Given the description of an element on the screen output the (x, y) to click on. 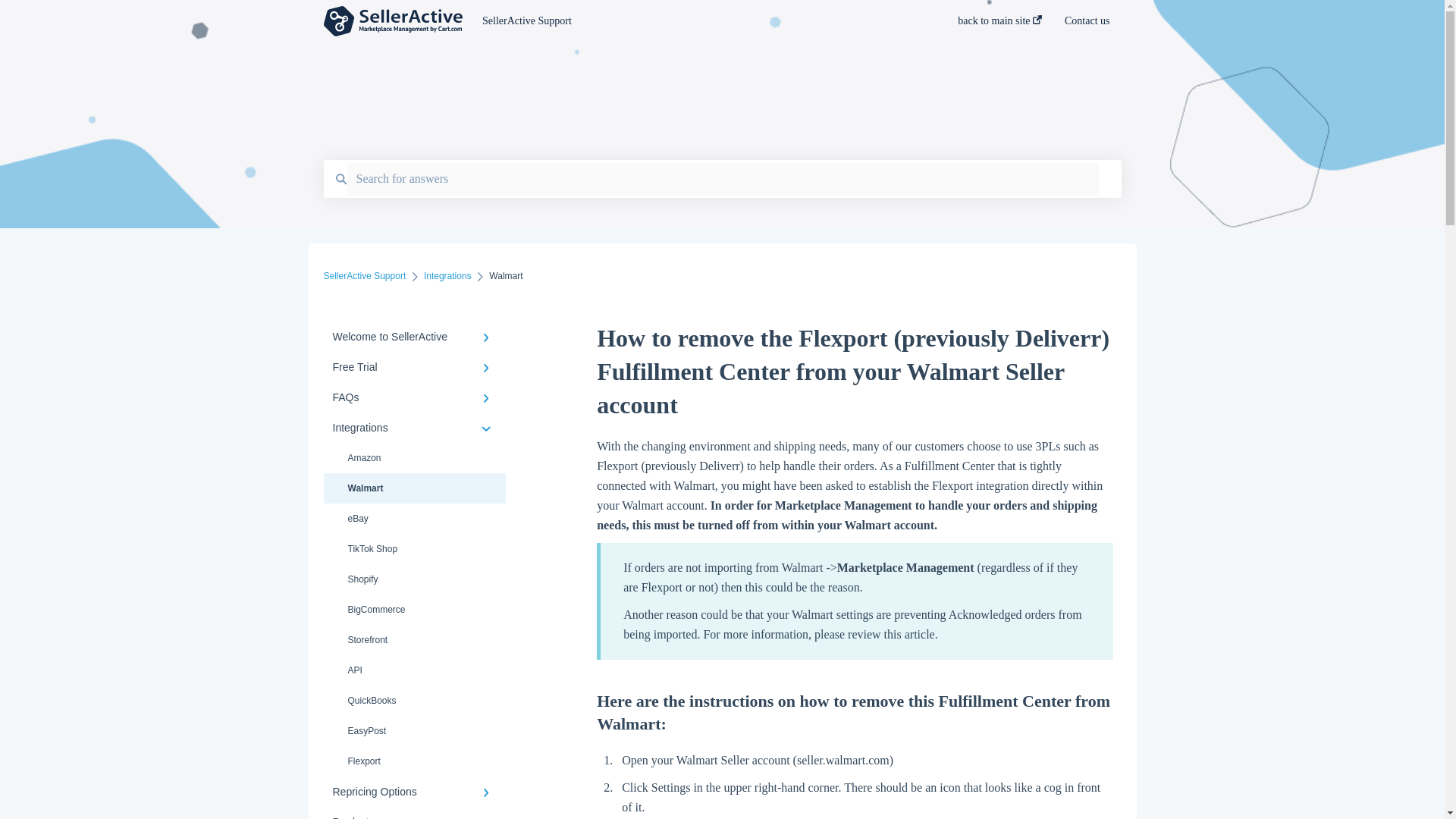
back to main site (1000, 25)
Contact us (1086, 25)
SellerActive Support (696, 21)
